Given the description of an element on the screen output the (x, y) to click on. 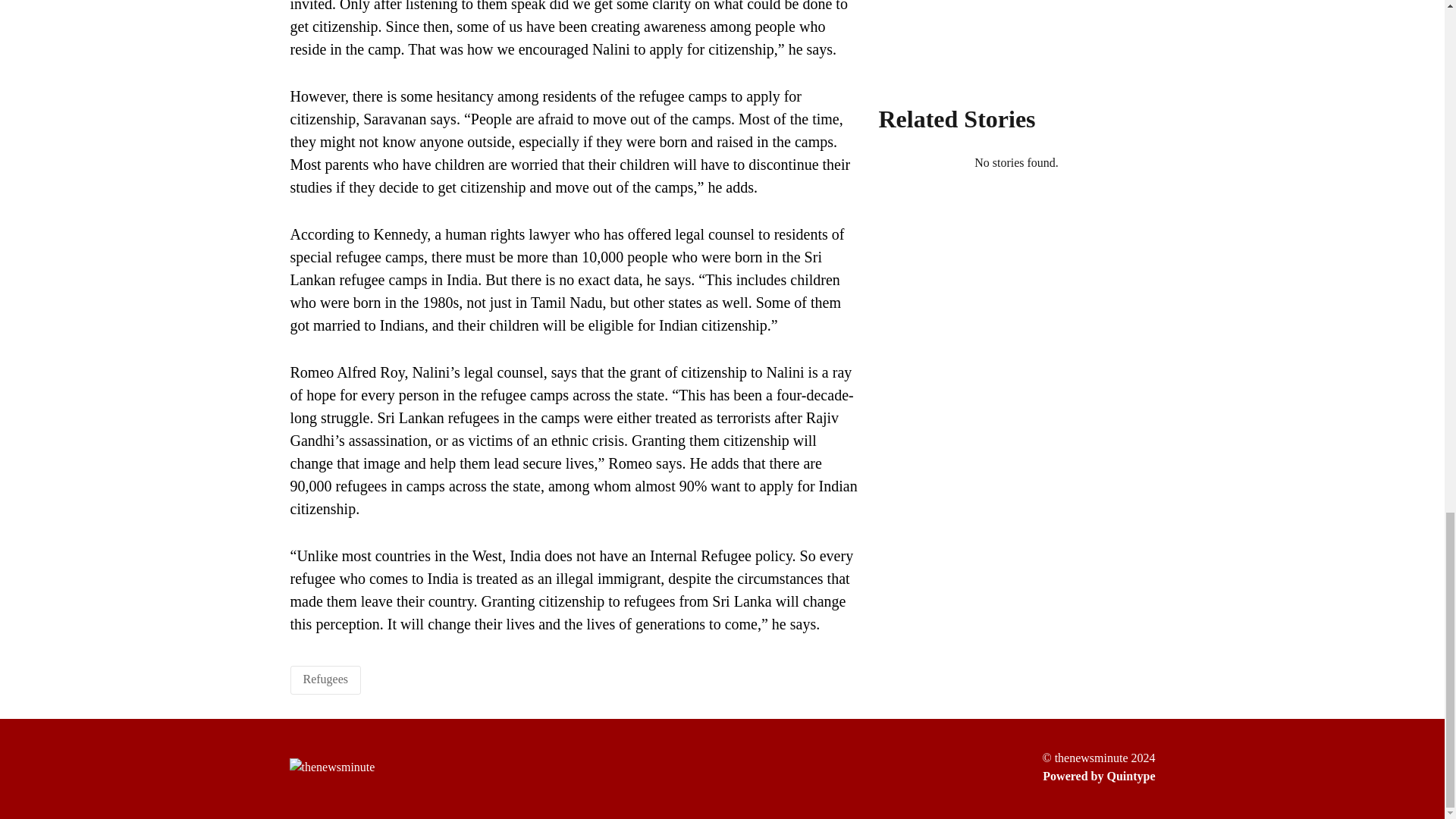
Refugees (325, 678)
Powered by Quintype (1098, 776)
